Given the description of an element on the screen output the (x, y) to click on. 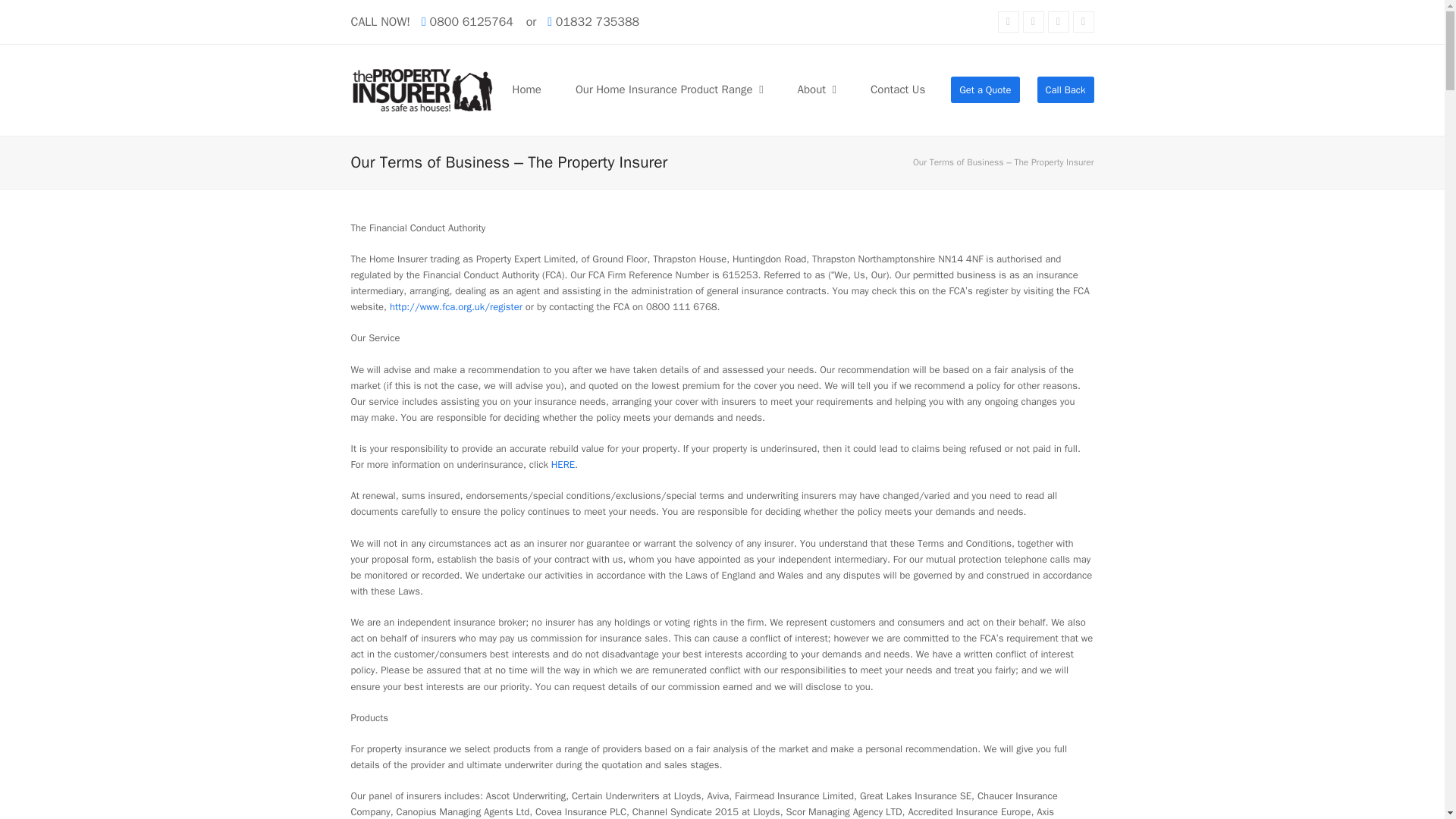
About (816, 89)
Facebook (1032, 21)
Contact Us (897, 89)
Home (526, 89)
Call Back (1065, 89)
Get a Quote (984, 89)
Twitter (1008, 21)
Email (1058, 21)
Our Home Insurance Product Range (669, 89)
Phone (1082, 21)
